Given the description of an element on the screen output the (x, y) to click on. 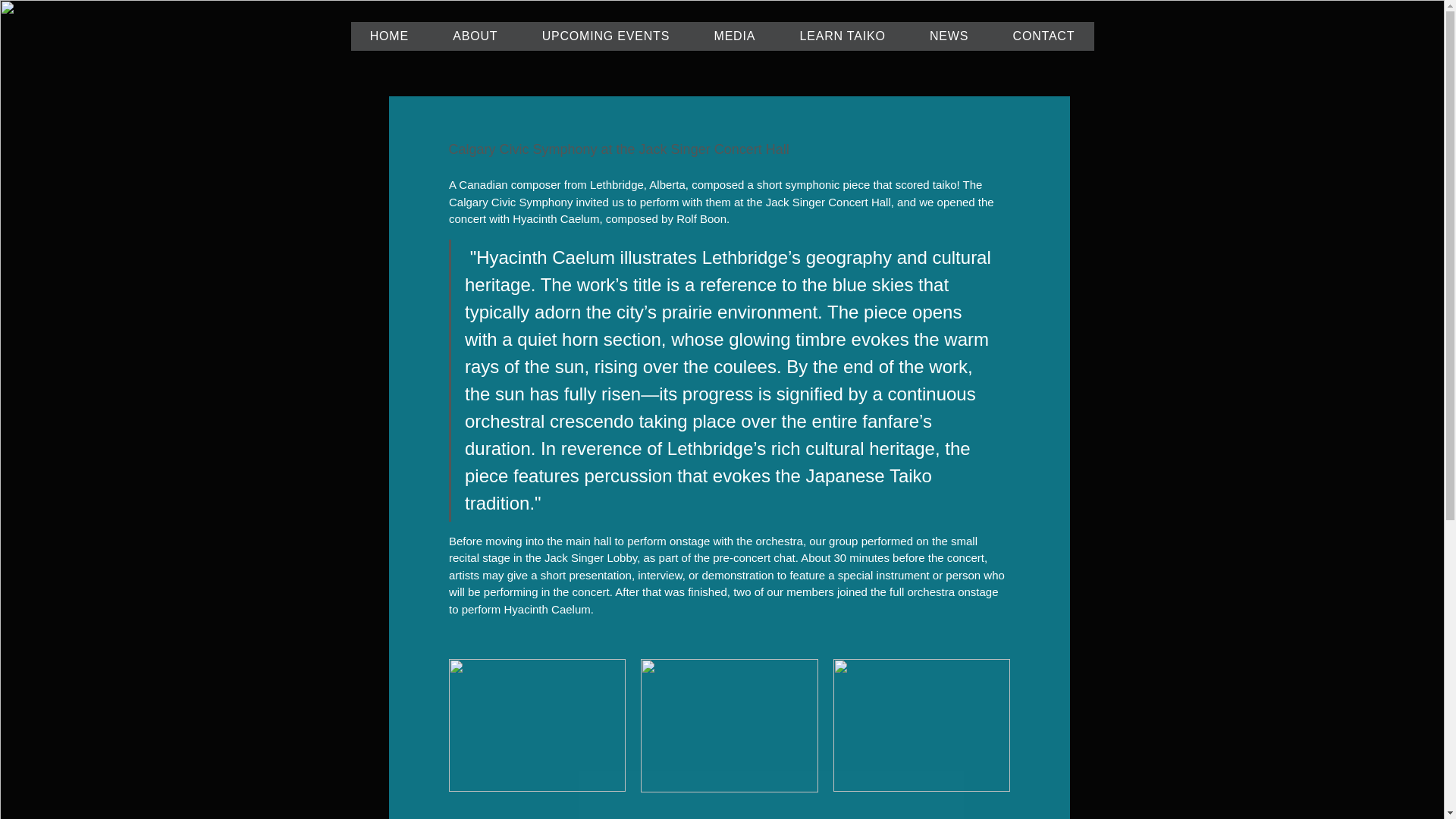
CONTACT (1042, 36)
ABOUT (474, 36)
UPCOMING EVENTS (605, 36)
NEWS (949, 36)
MEDIA (734, 36)
HOME (389, 36)
LEARN TAIKO (842, 36)
